Given the description of an element on the screen output the (x, y) to click on. 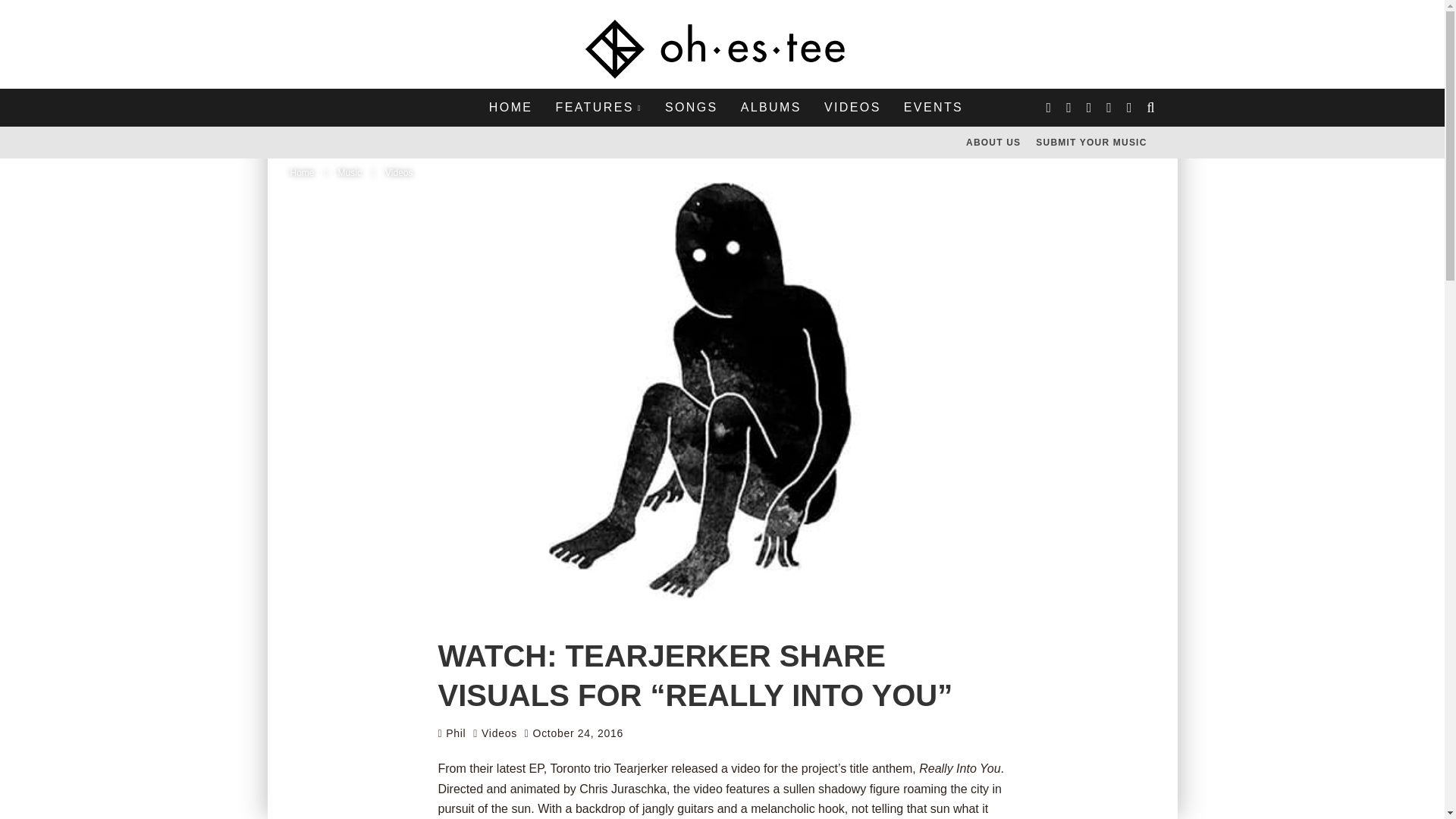
SONGS (691, 107)
FEATURES (597, 107)
HOME (510, 107)
